Given the description of an element on the screen output the (x, y) to click on. 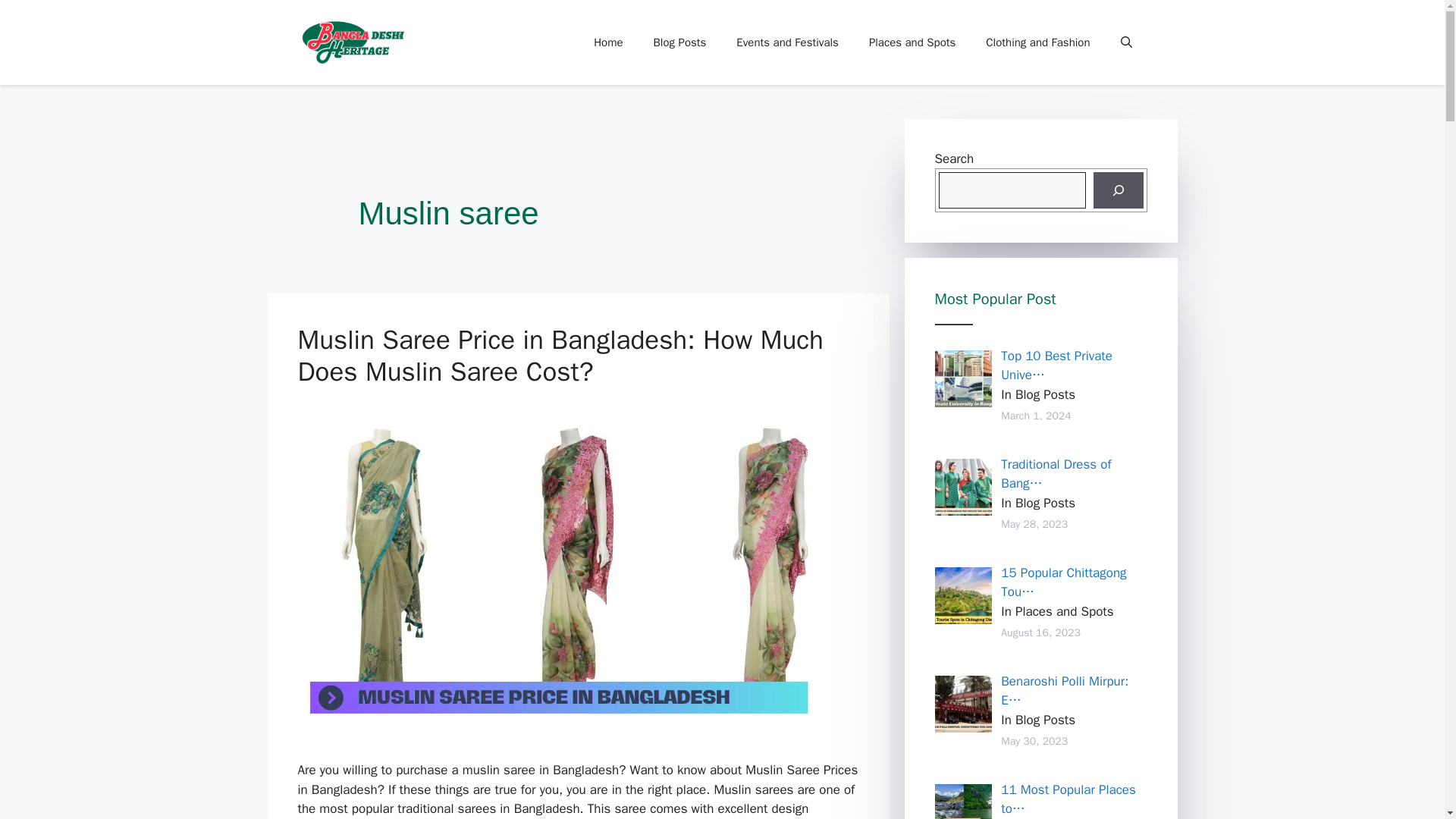
Home (607, 42)
Places and Spots (912, 42)
Blog Posts (680, 42)
Events and Festivals (786, 42)
Clothing and Fashion (1038, 42)
